Given the description of an element on the screen output the (x, y) to click on. 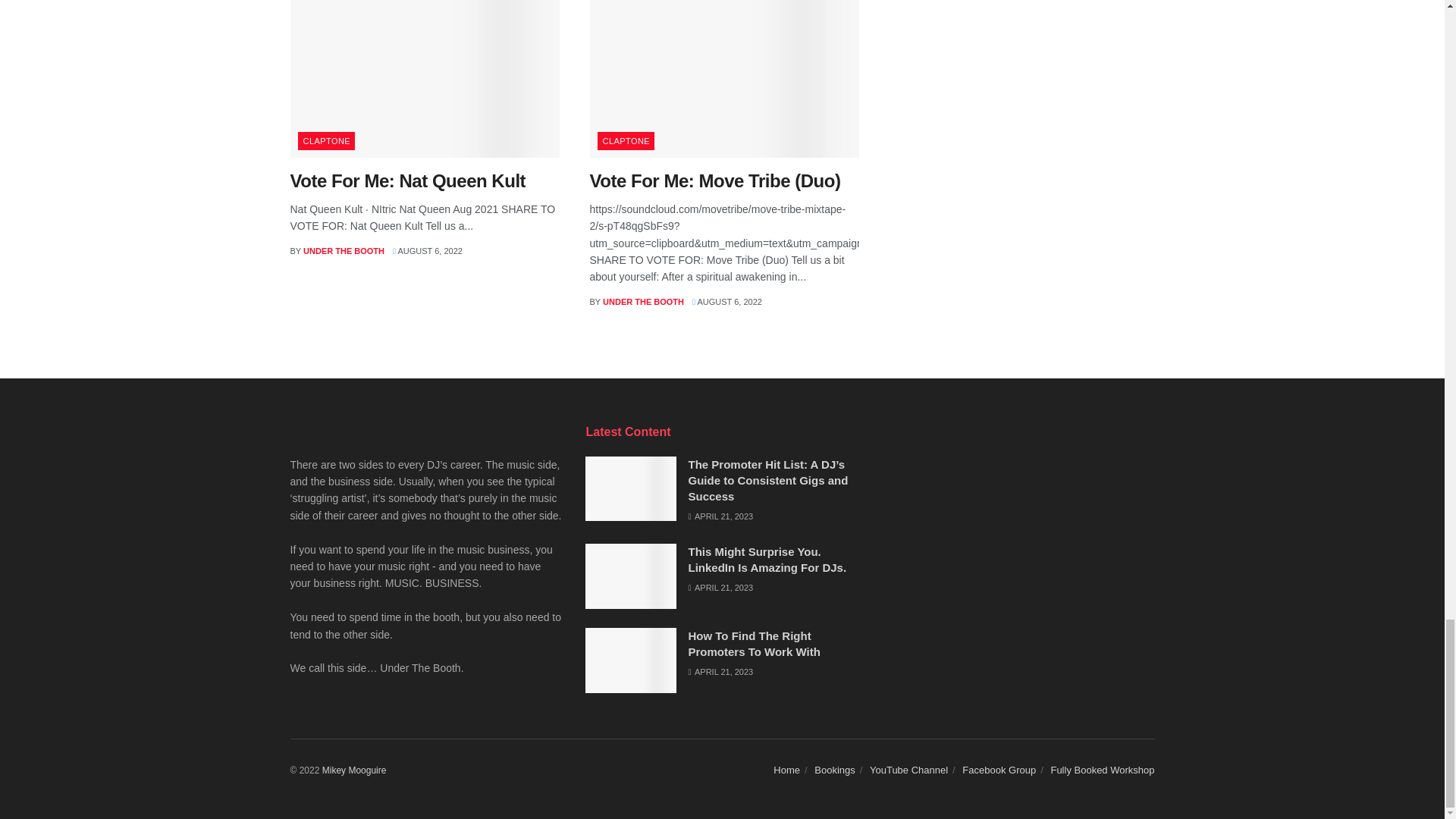
dance music media network (354, 769)
